Given the description of an element on the screen output the (x, y) to click on. 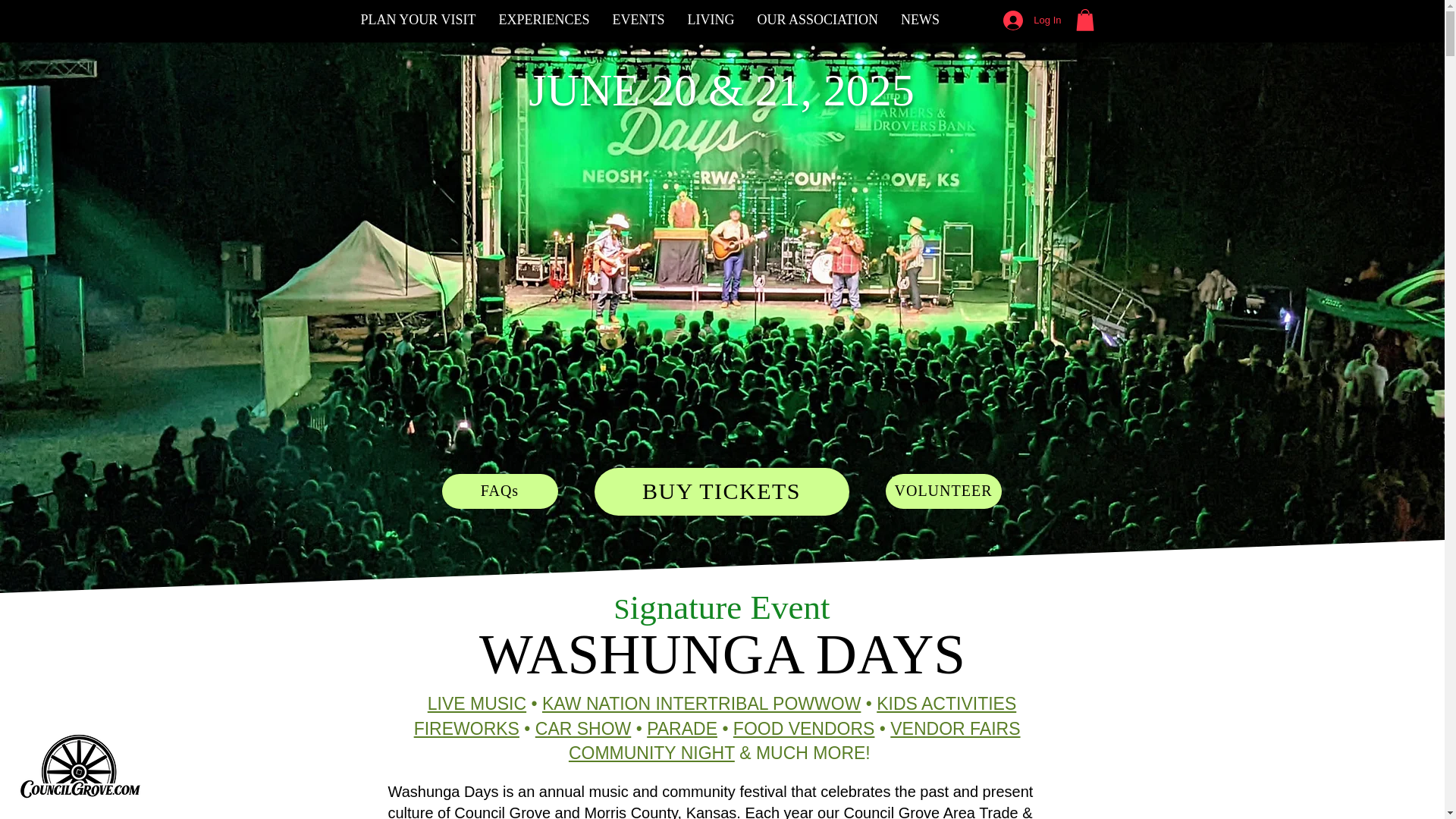
PLAN YOUR VISIT (417, 19)
